Given the description of an element on the screen output the (x, y) to click on. 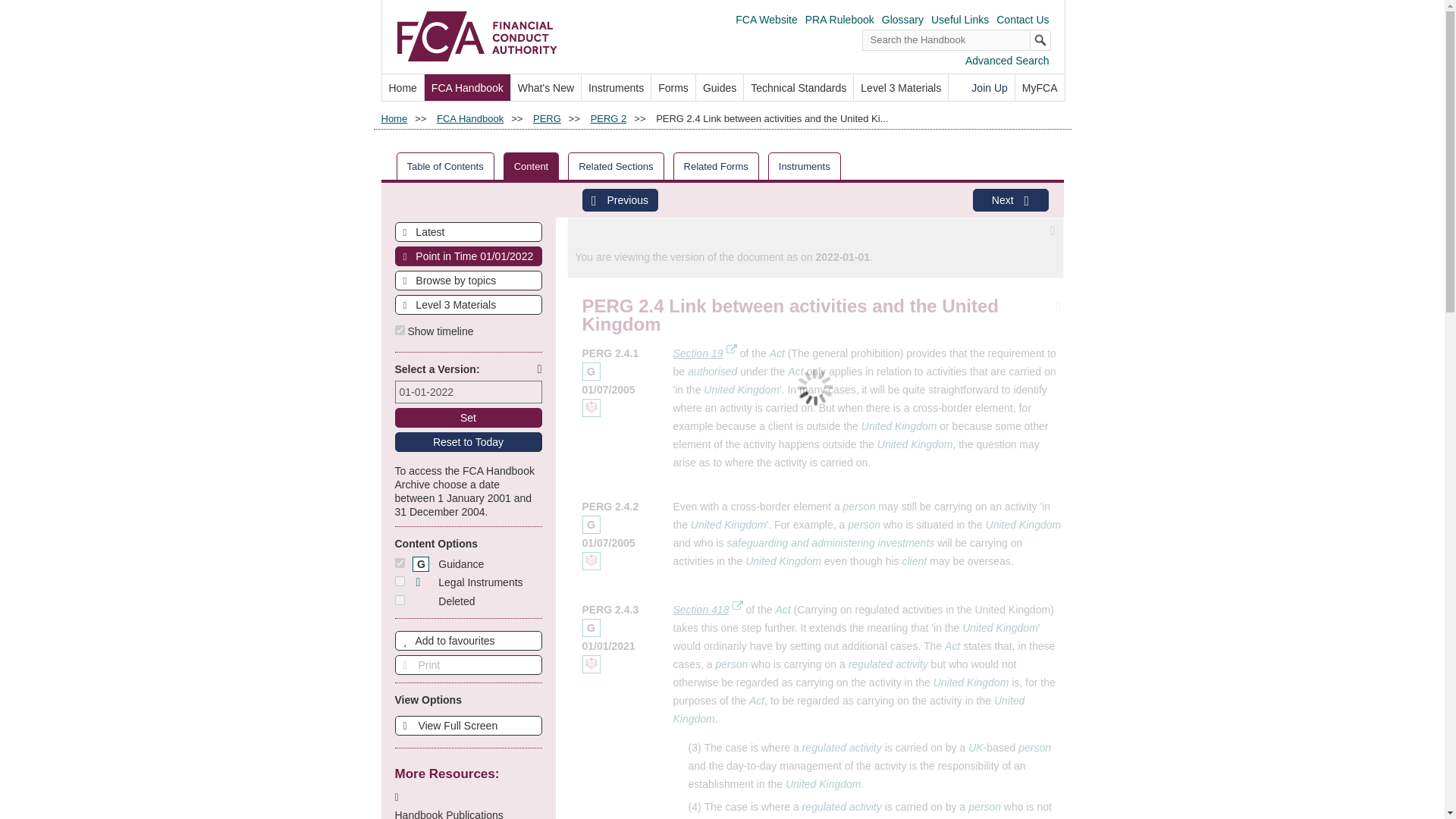
Advanced Search (1007, 60)
Archive Handbook (467, 491)
Previous (620, 200)
Level 3 Materials (468, 304)
PERG (546, 118)
Search (1040, 39)
Latest (468, 231)
Technical Standards (798, 87)
Next (1010, 200)
Glossary (902, 19)
